Given the description of an element on the screen output the (x, y) to click on. 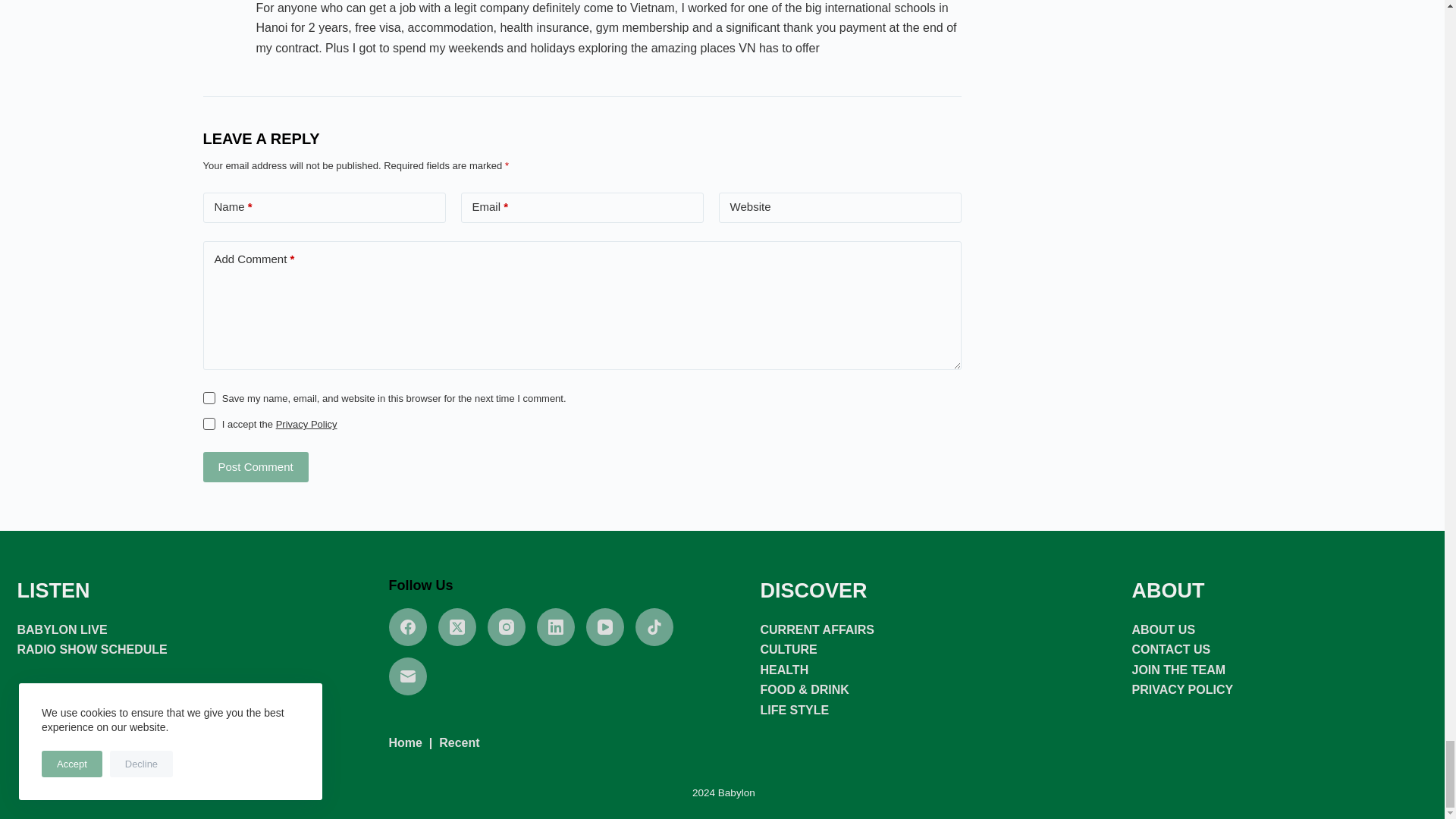
on (209, 423)
yes (209, 398)
